Given the description of an element on the screen output the (x, y) to click on. 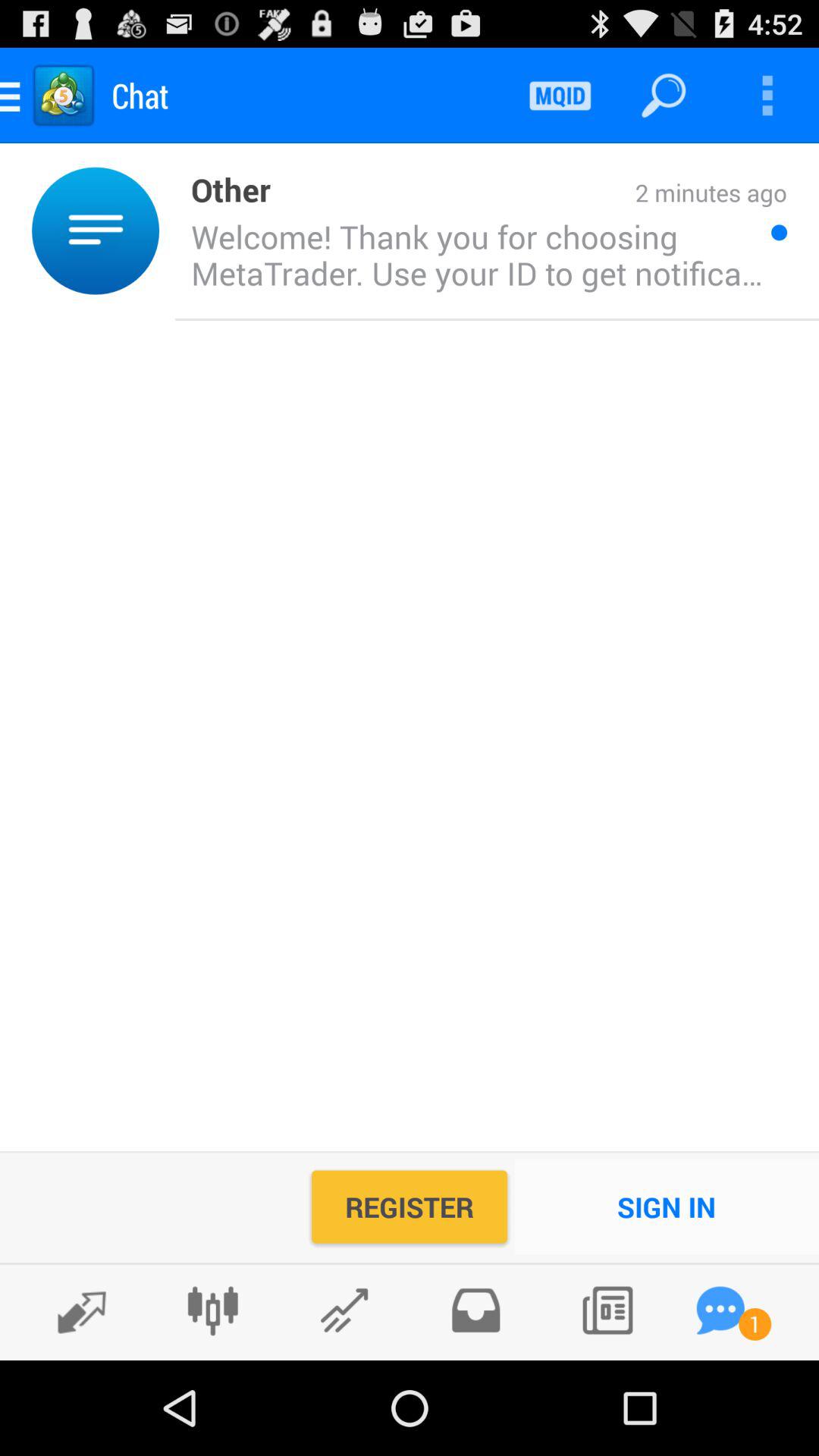
send (344, 1310)
